Given the description of an element on the screen output the (x, y) to click on. 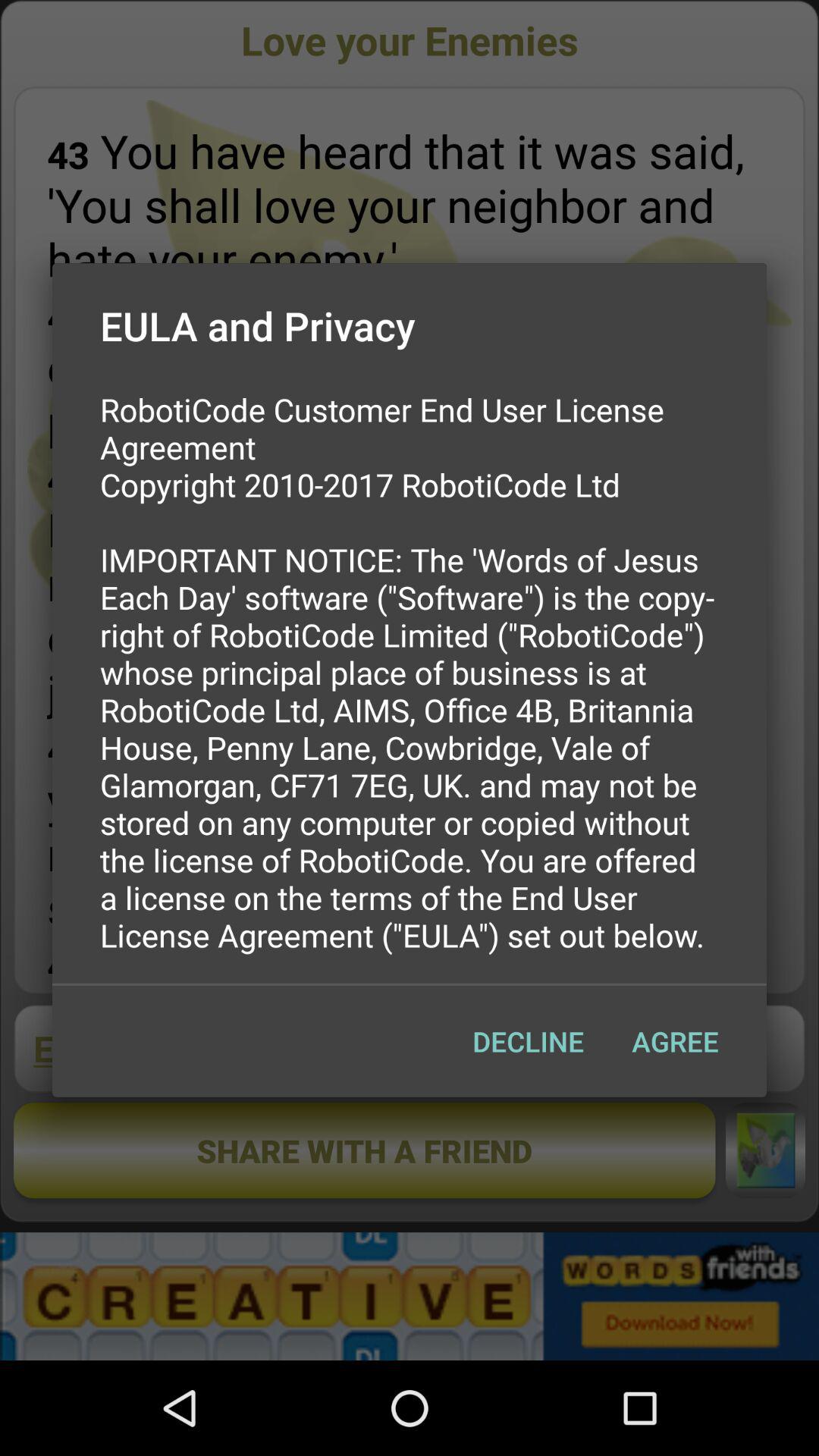
press the icon to the left of the agree button (527, 1041)
